Given the description of an element on the screen output the (x, y) to click on. 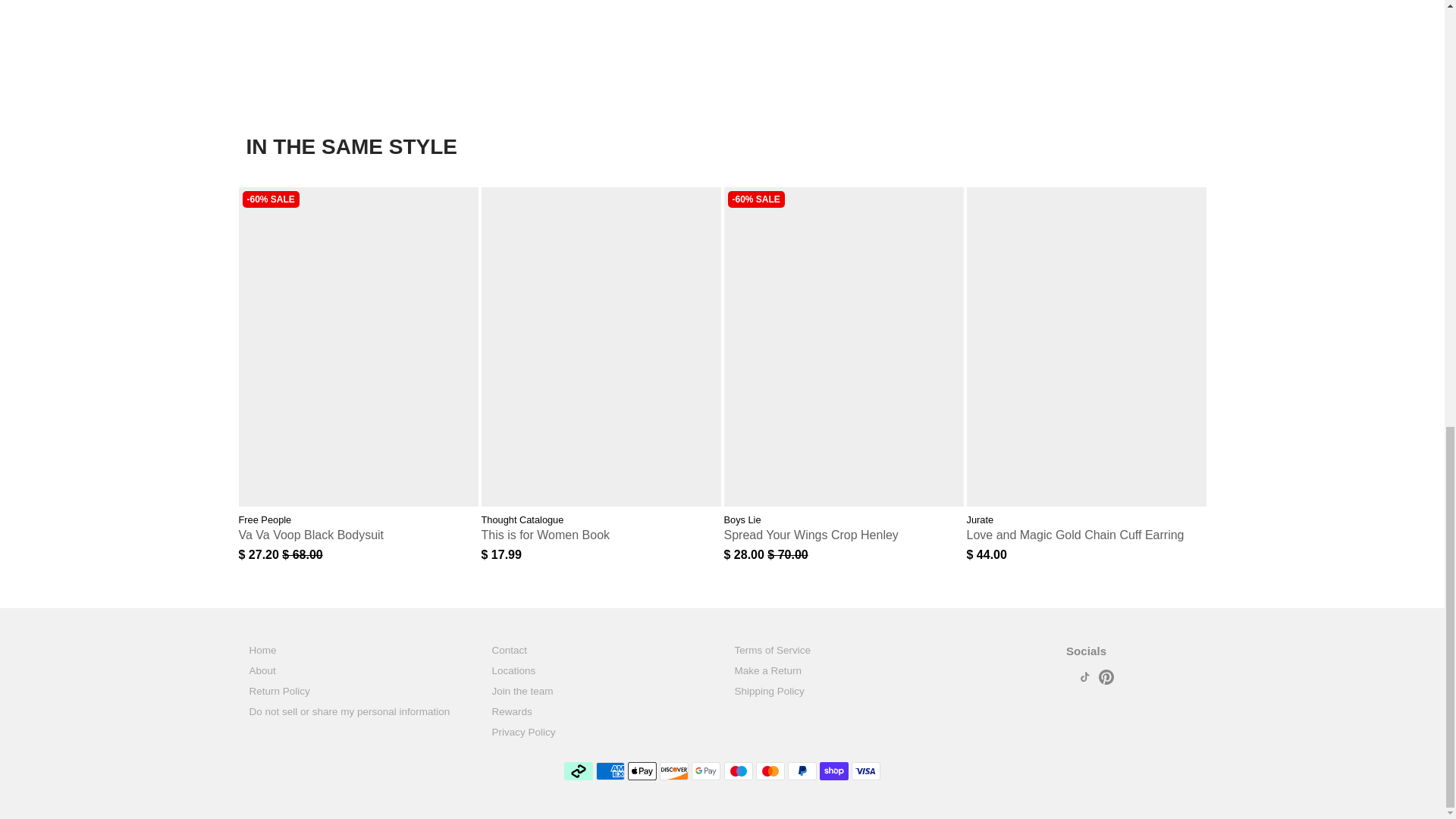
American Express (609, 771)
Google Pay (705, 771)
Mastercard (769, 771)
PayPal (801, 771)
Shop Pay (833, 771)
Apple Pay (641, 771)
Maestro (737, 771)
Discover (673, 771)
Afterpay (578, 771)
Visa (865, 771)
